Given the description of an element on the screen output the (x, y) to click on. 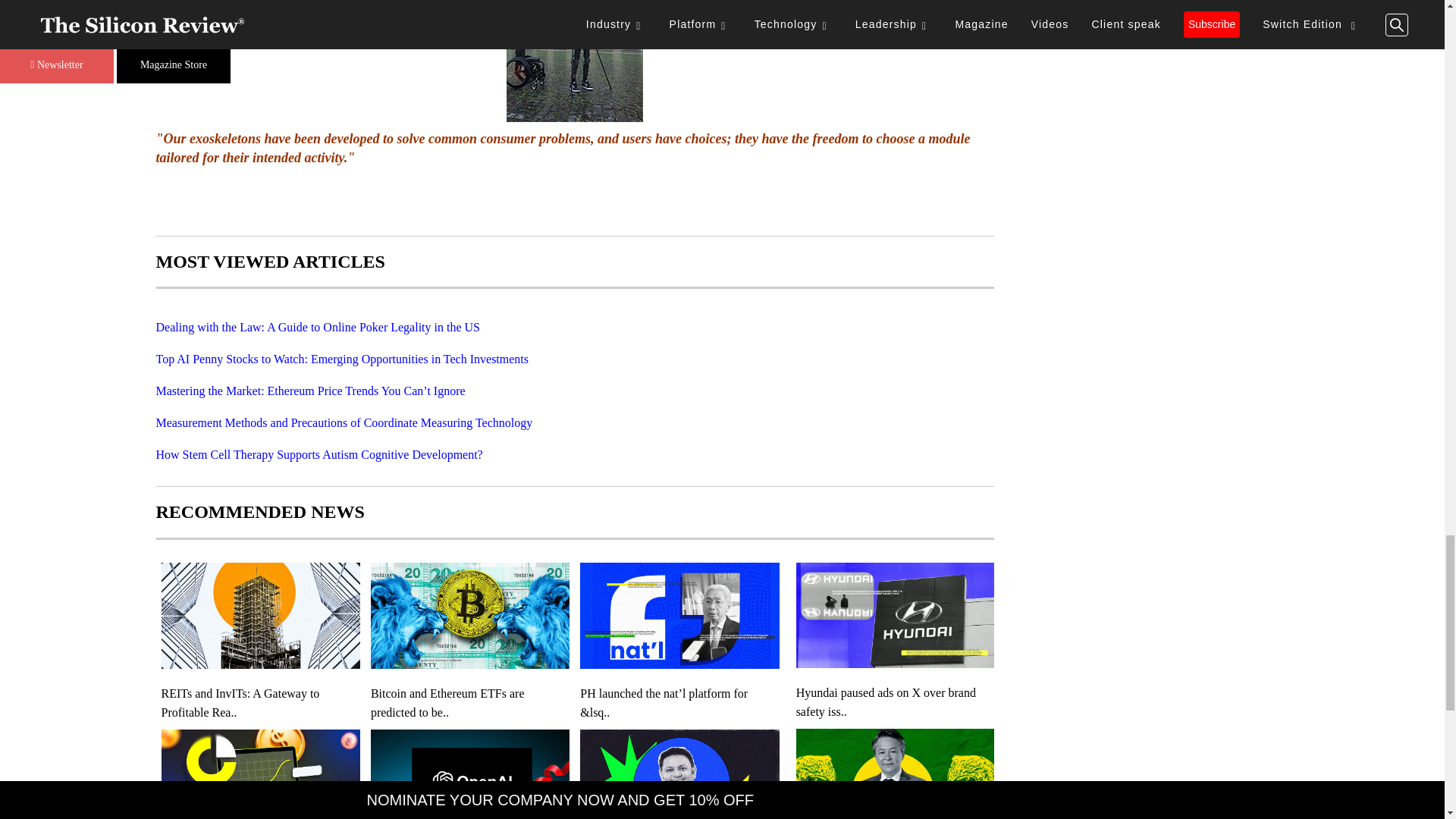
Hyundai paused ads on X over brand safety issues (895, 702)
